Given the description of an element on the screen output the (x, y) to click on. 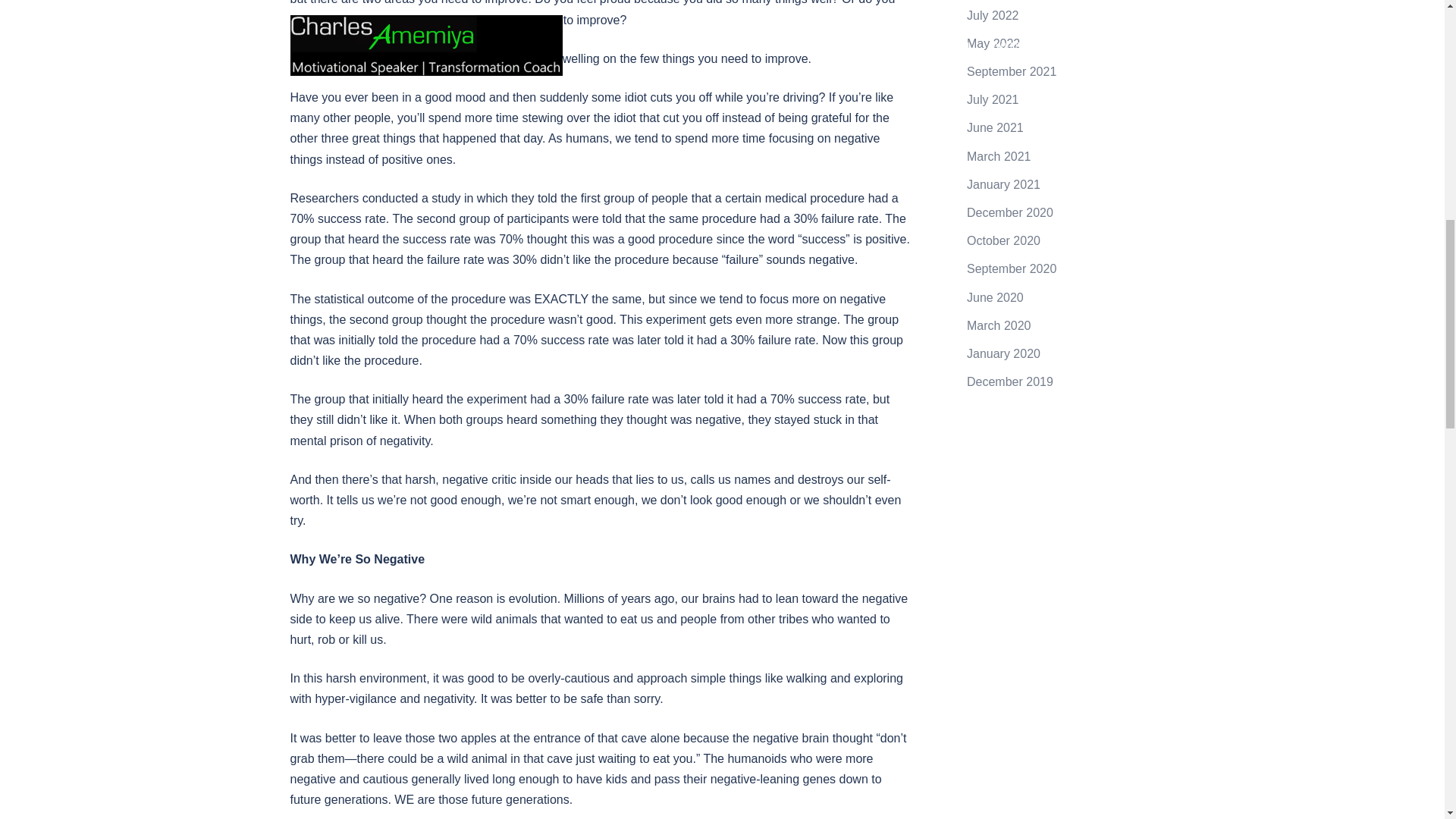
September 2020 (1011, 268)
June 2020 (994, 297)
July 2022 (992, 15)
September 2021 (1011, 71)
July 2021 (992, 99)
May 2022 (993, 42)
December 2020 (1009, 212)
January 2021 (1003, 184)
March 2020 (998, 325)
June 2021 (994, 127)
October 2020 (1003, 240)
March 2021 (998, 155)
